Given the description of an element on the screen output the (x, y) to click on. 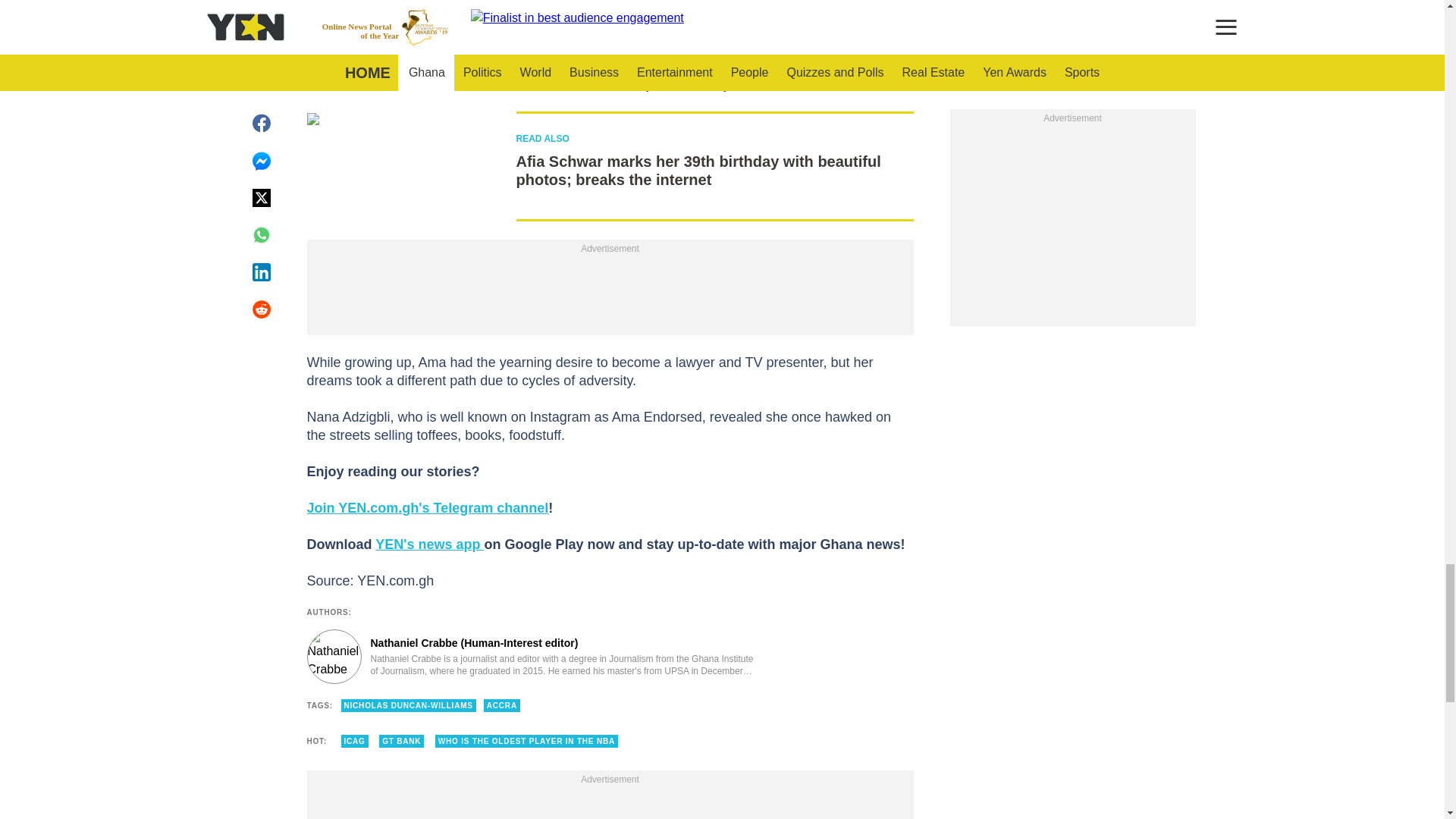
Author page (533, 656)
